Given the description of an element on the screen output the (x, y) to click on. 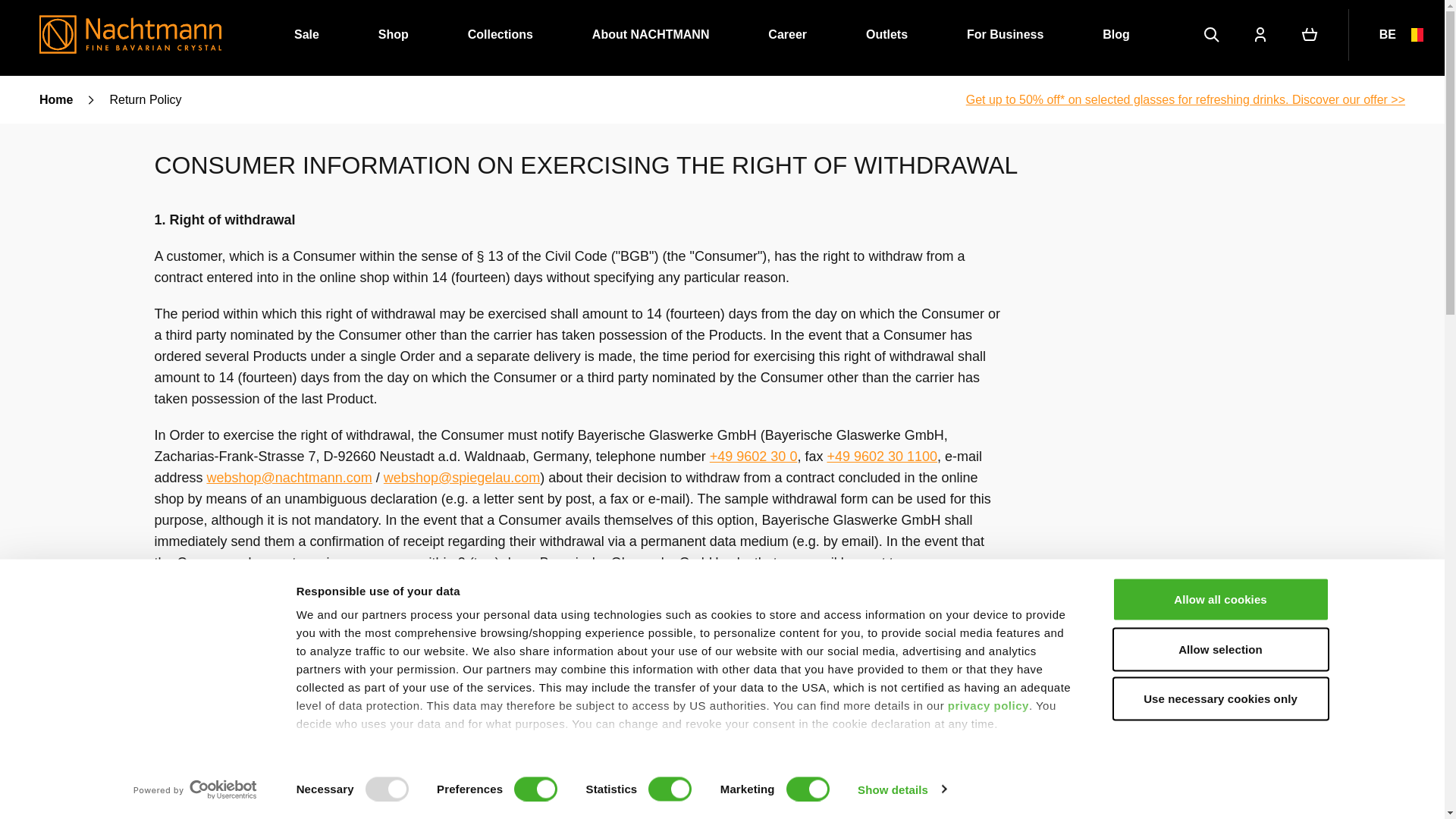
Search (1211, 34)
Go to shopping cart (1308, 34)
NACHTMANN - Fine Bavarian Crystal (130, 34)
Imprint (317, 759)
MyNACHTMANN (1259, 34)
privacy policy (988, 705)
Show details (900, 789)
